Given the description of an element on the screen output the (x, y) to click on. 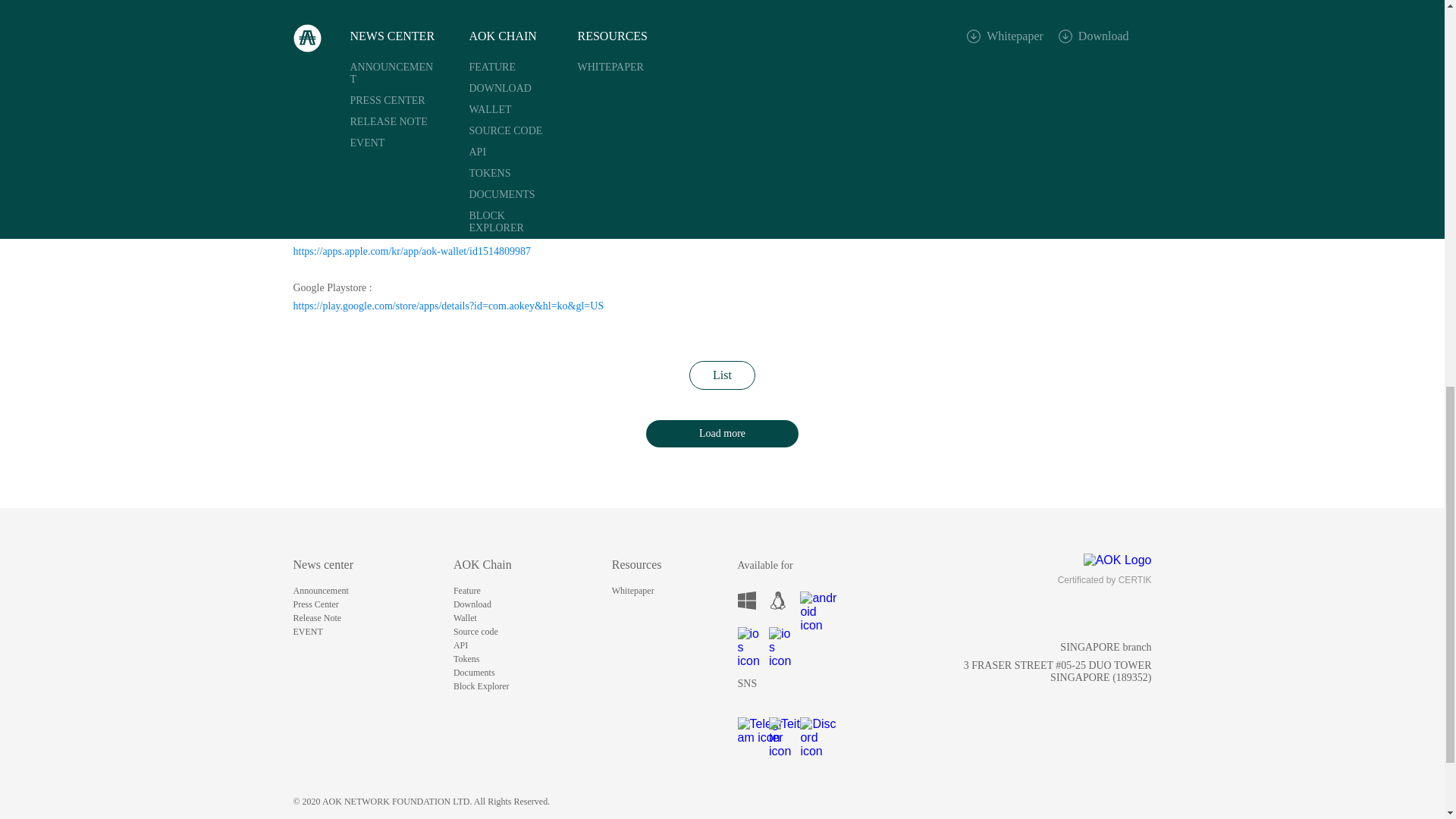
new window (777, 726)
new window (777, 636)
new window (808, 600)
List (721, 375)
new window (745, 600)
new window (745, 636)
new window (777, 600)
new window (745, 726)
